Given the description of an element on the screen output the (x, y) to click on. 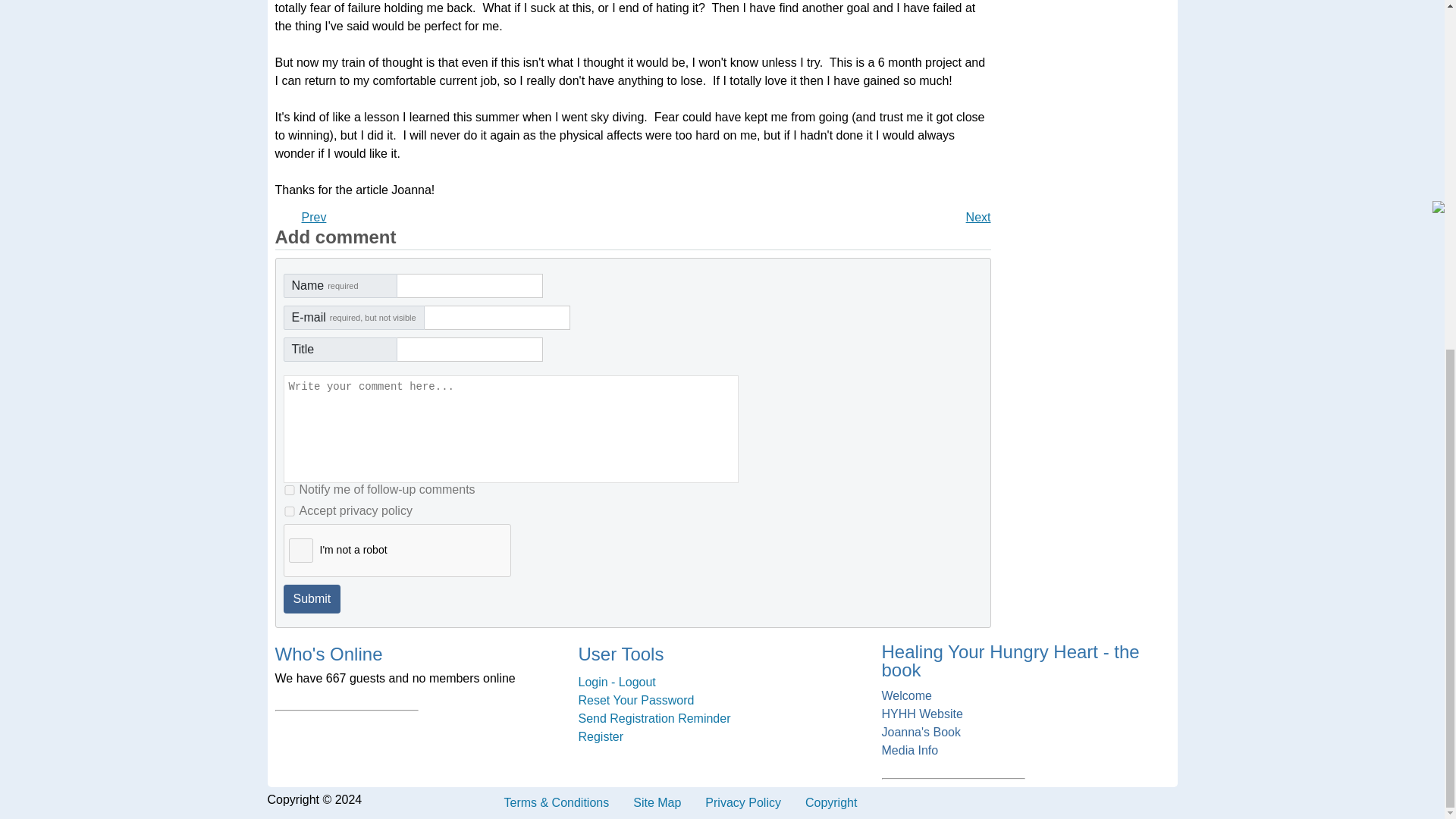
HYHH Website (1024, 714)
Thanks Joanna (978, 216)
Send Registration Reminder (722, 719)
Privacy Policy (743, 802)
Register (722, 737)
career opportunity (313, 216)
Login - Logout (722, 682)
1 (289, 489)
Prev (313, 216)
Media Info (1024, 751)
